Given the description of an element on the screen output the (x, y) to click on. 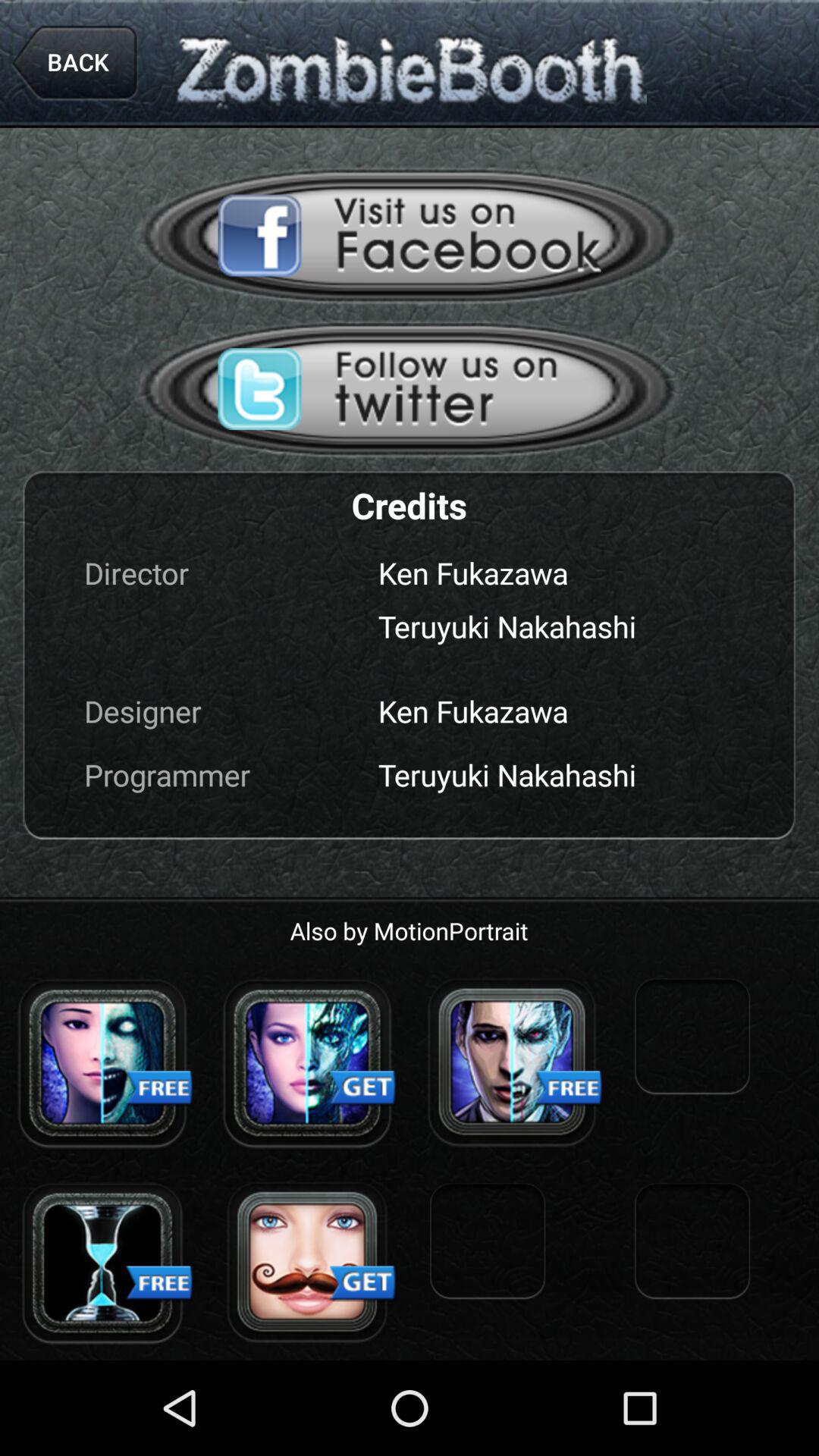
select free app (511, 1062)
